Given the description of an element on the screen output the (x, y) to click on. 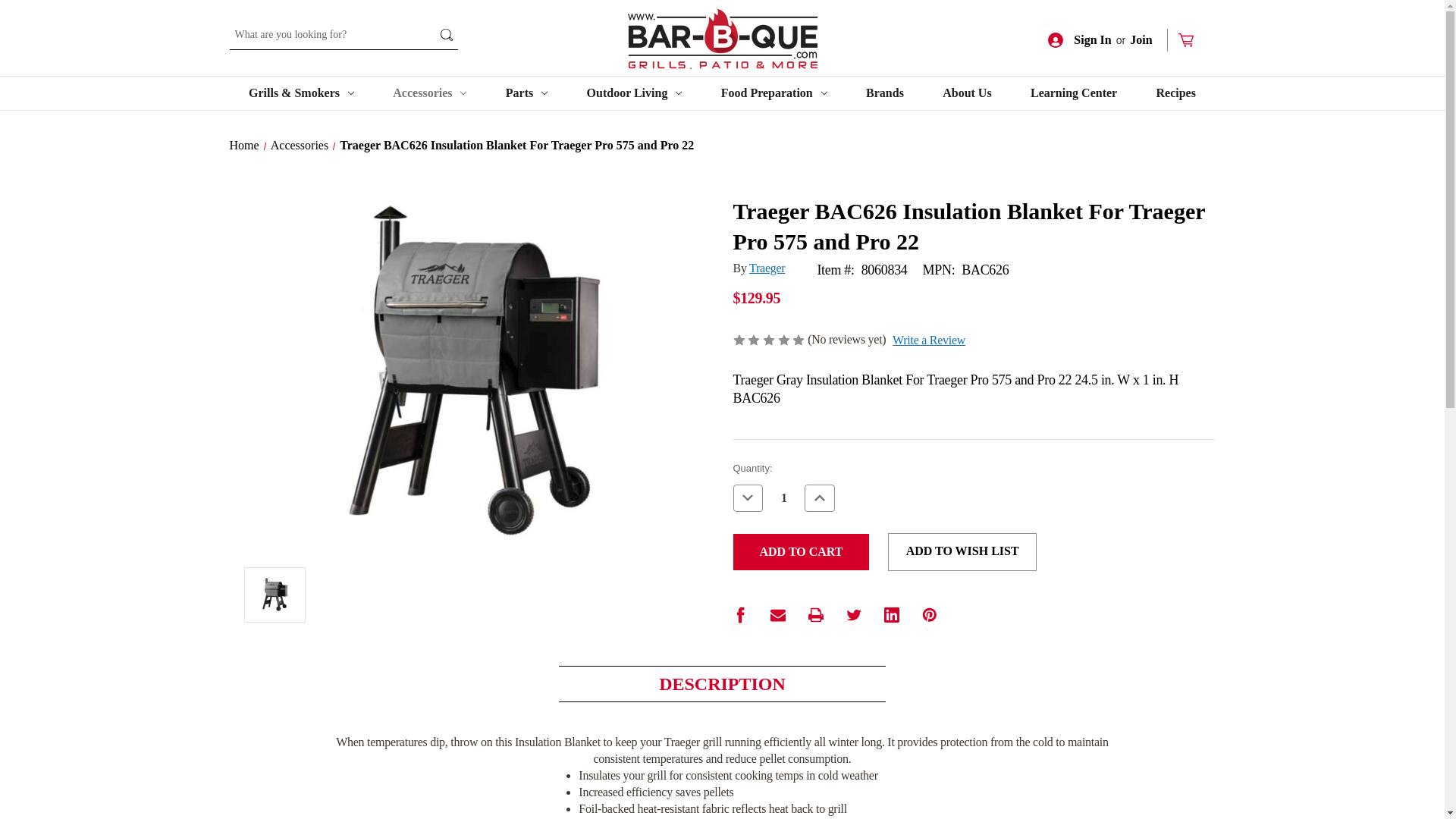
Facebook (740, 614)
Sign In (1079, 39)
Pinterest (929, 614)
Bar-B-Que.com (721, 38)
Linkedin (891, 614)
1 (783, 497)
Print (816, 614)
Parts (526, 92)
Email (778, 614)
Accessories (429, 92)
Twitter (853, 614)
Join (1147, 40)
Add to Cart (800, 551)
